Given the description of an element on the screen output the (x, y) to click on. 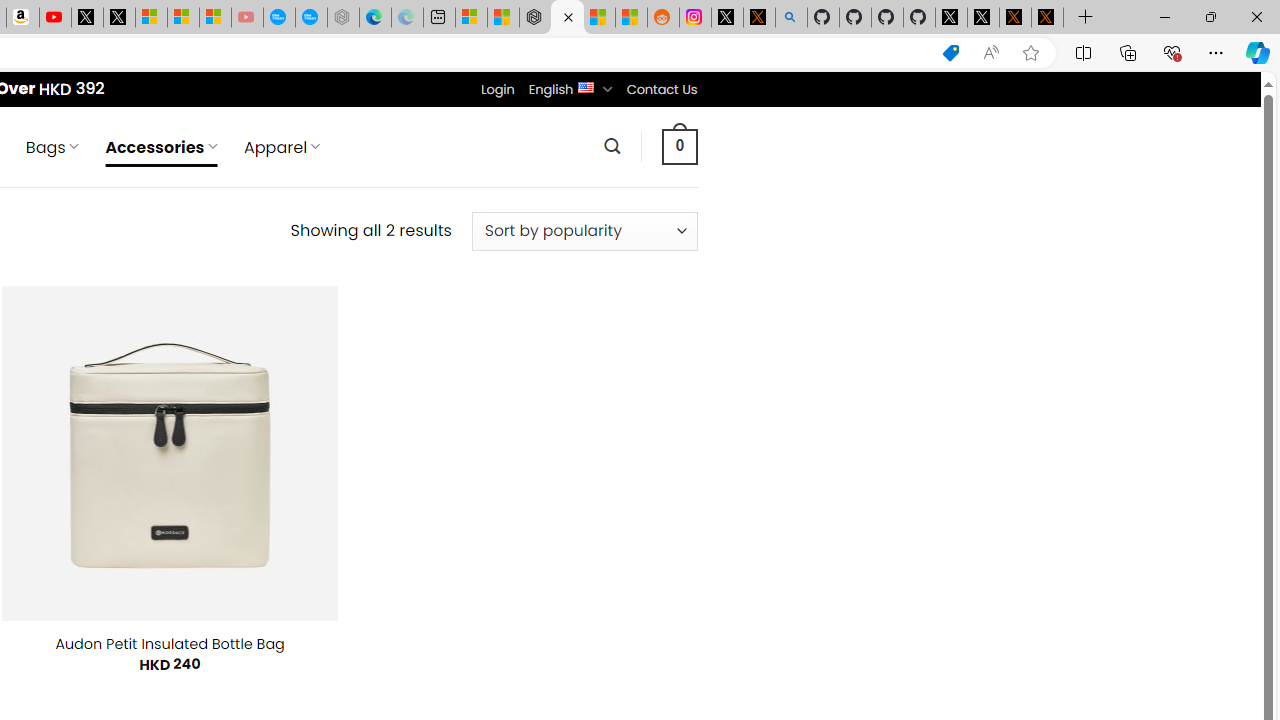
Shanghai, China Weather trends | Microsoft Weather (630, 17)
 0  (679, 146)
This site has coupons! Shopping in Microsoft Edge (950, 53)
